Given the description of an element on the screen output the (x, y) to click on. 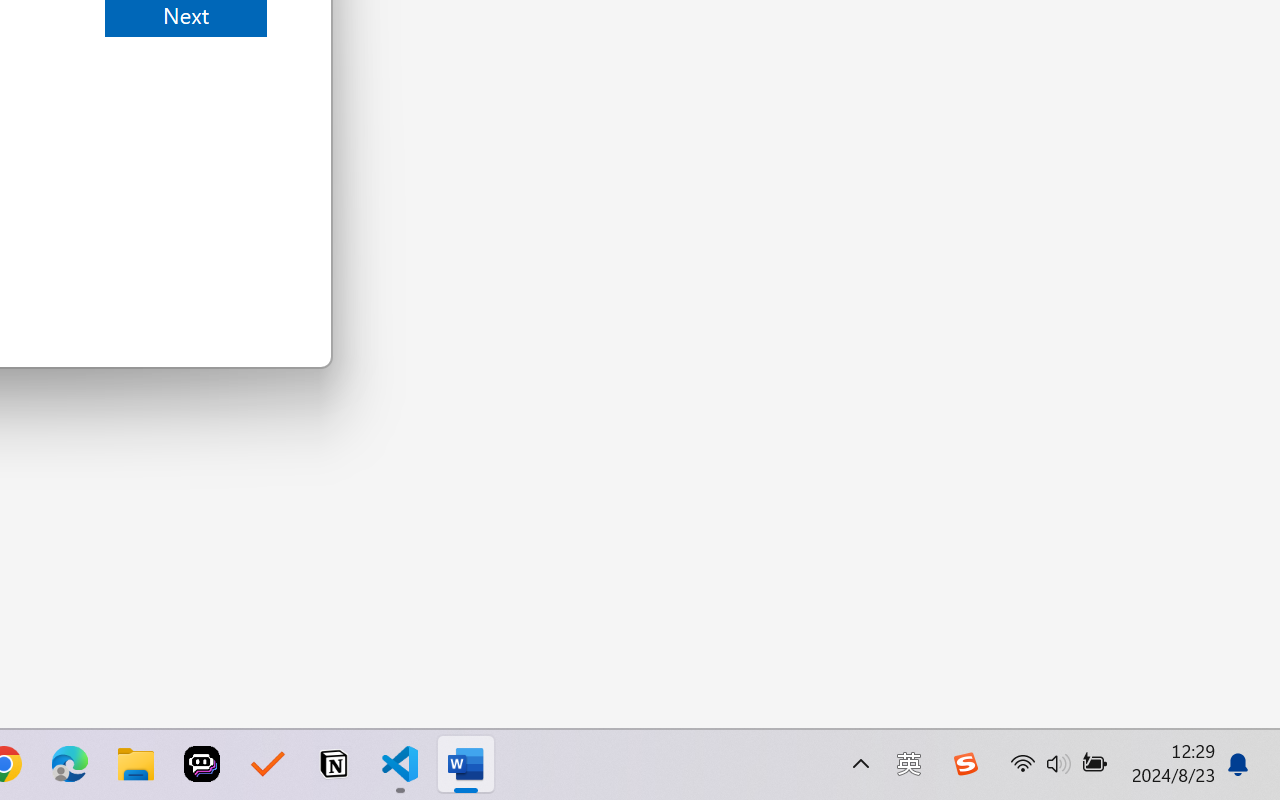
Microsoft Edge (69, 764)
